Given the description of an element on the screen output the (x, y) to click on. 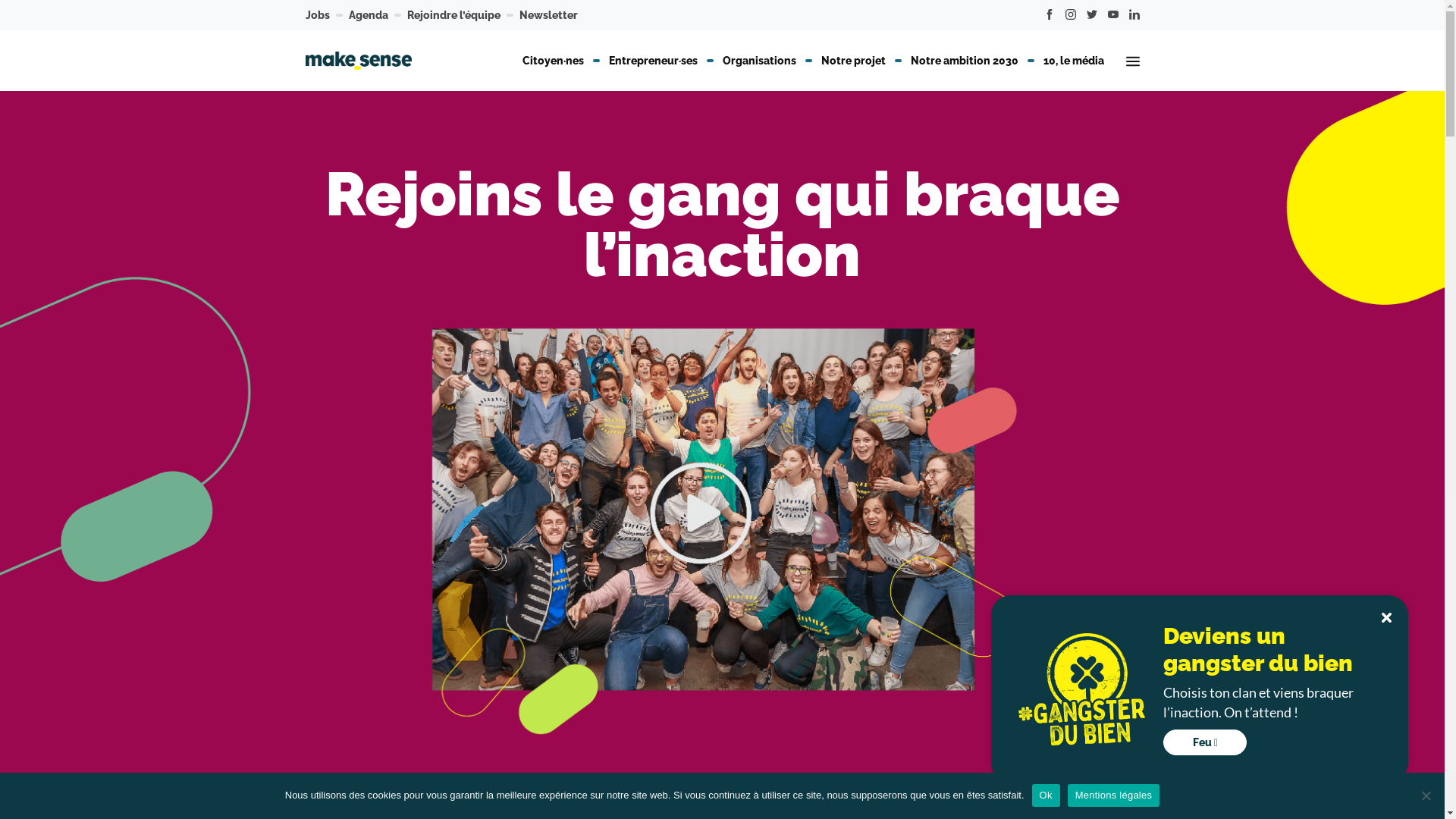
Notre ambition 2030 Element type: text (964, 60)
Fermer Element type: text (1386, 616)
Notre projet Element type: text (853, 60)
Find us on Youtube Element type: hover (1112, 14)
Open video popin Element type: text (721, 524)
Jobs Element type: text (316, 14)
Agenda Element type: text (368, 14)
Newsletter Element type: text (547, 14)
Organisations Element type: text (759, 60)
Ok Element type: text (1046, 795)
Find us on Instagram Element type: hover (1070, 14)
Find us on Twitter Element type: hover (1091, 14)
Go back to homepage Element type: hover (357, 60)
Find us on Linkedin Element type: hover (1134, 14)
Ouvrir Element type: text (1132, 59)
Find us on Facebook Element type: hover (1049, 14)
